Given the description of an element on the screen output the (x, y) to click on. 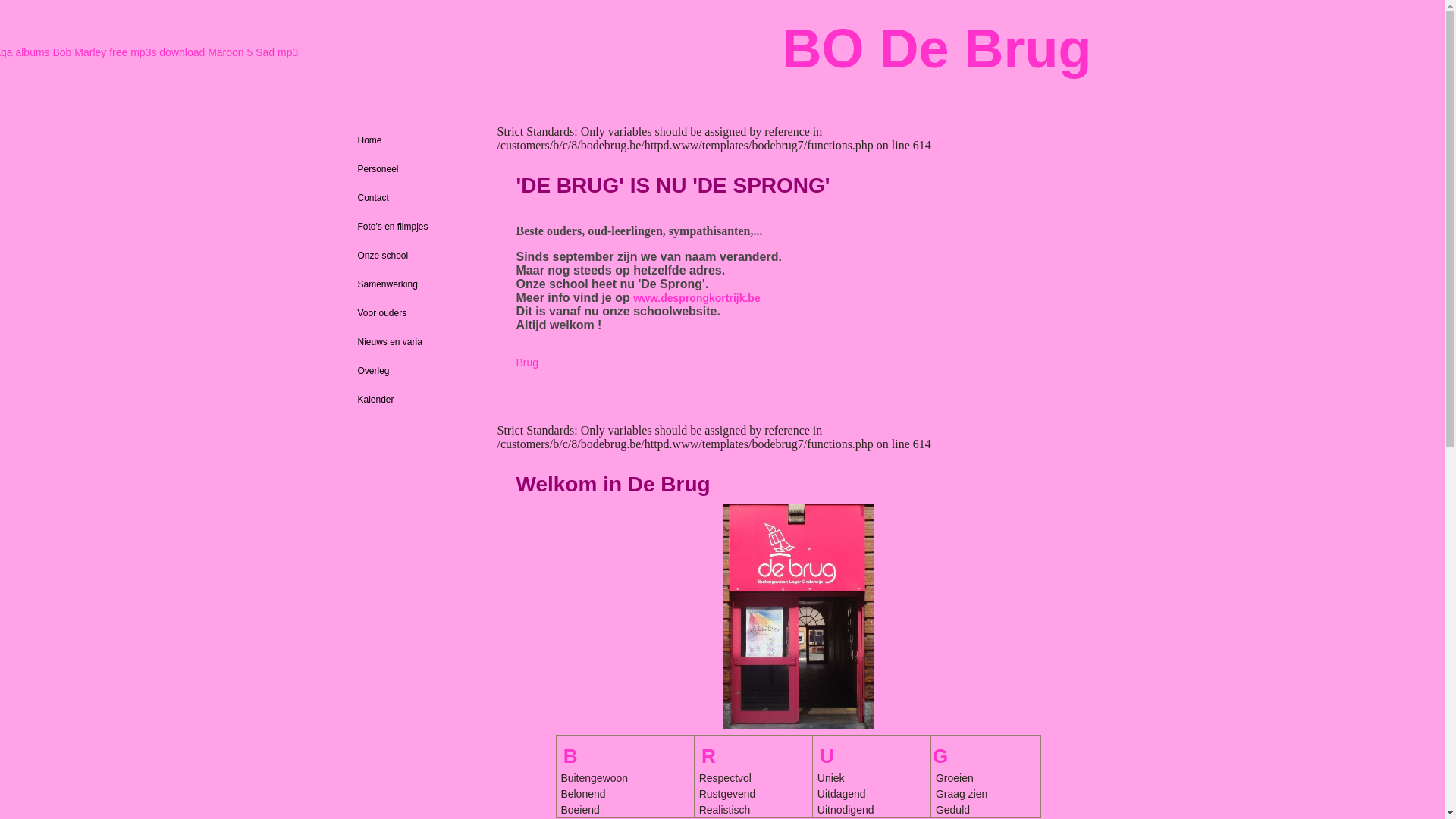
Contact Element type: text (420, 197)
BO De Brug Element type: text (936, 48)
www.desprongkortrijk.be Element type: text (696, 297)
Personeel Element type: text (420, 169)
Voor ouders Element type: text (420, 313)
Maroon 5 Sad mp3 Element type: text (252, 52)
Overleg Element type: text (420, 370)
Kalender Element type: text (420, 399)
Brug Element type: text (526, 362)
Samenwerking Element type: text (420, 284)
Onze school Element type: text (420, 255)
Foto's en filmpjes Element type: text (420, 226)
Bob Marley free mp3s download Element type: text (129, 52)
Nieuws en varia Element type: text (420, 341)
Home Element type: text (420, 140)
